Given the description of an element on the screen output the (x, y) to click on. 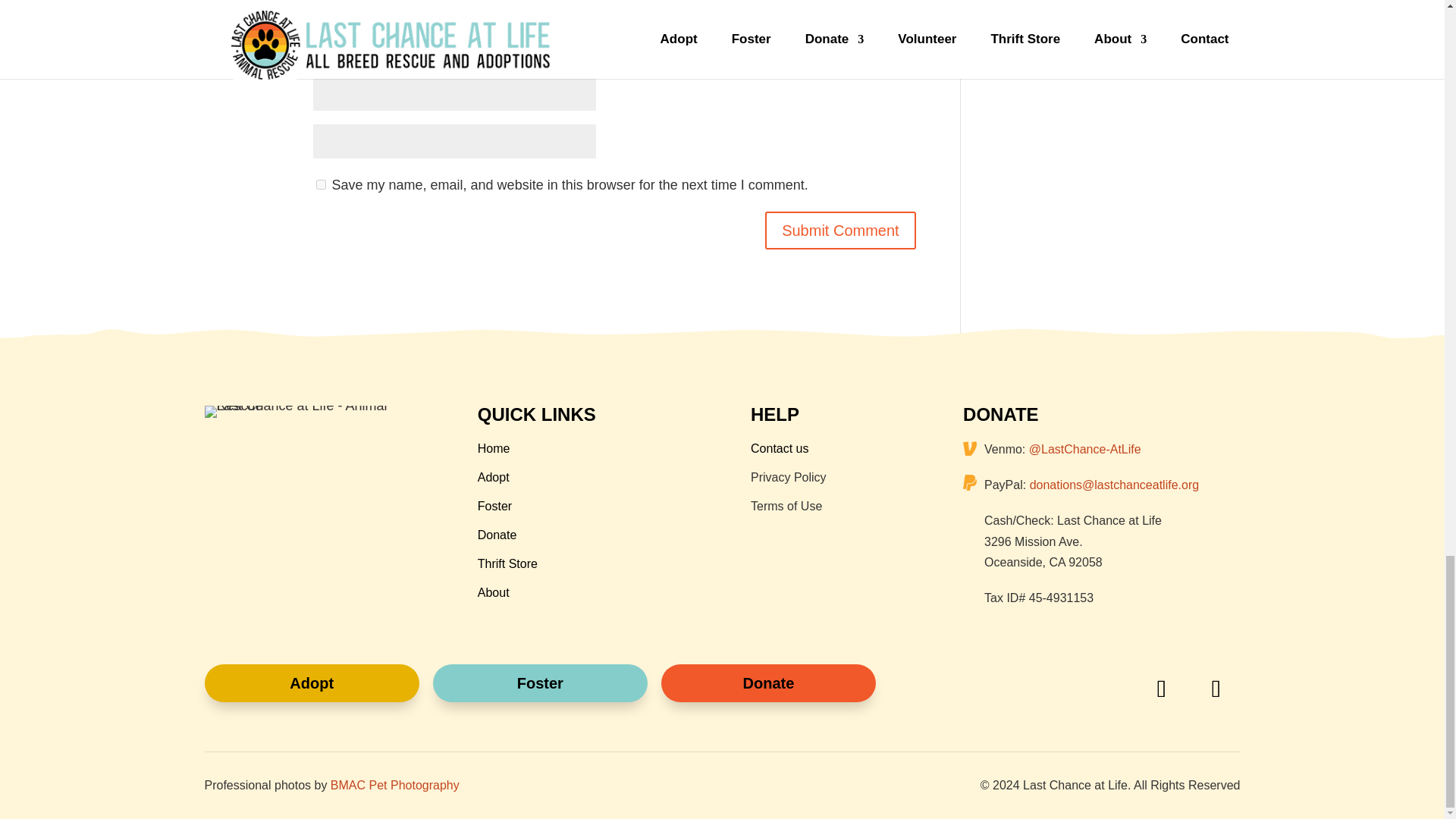
Contact us (779, 448)
Adopt (493, 477)
Follow on Instagram (1215, 688)
Submit Comment (840, 230)
LCAL logo (301, 411)
yes (319, 184)
Submit Comment (840, 230)
Thrift Store (507, 563)
Donate (496, 534)
Adopt (312, 682)
